Given the description of an element on the screen output the (x, y) to click on. 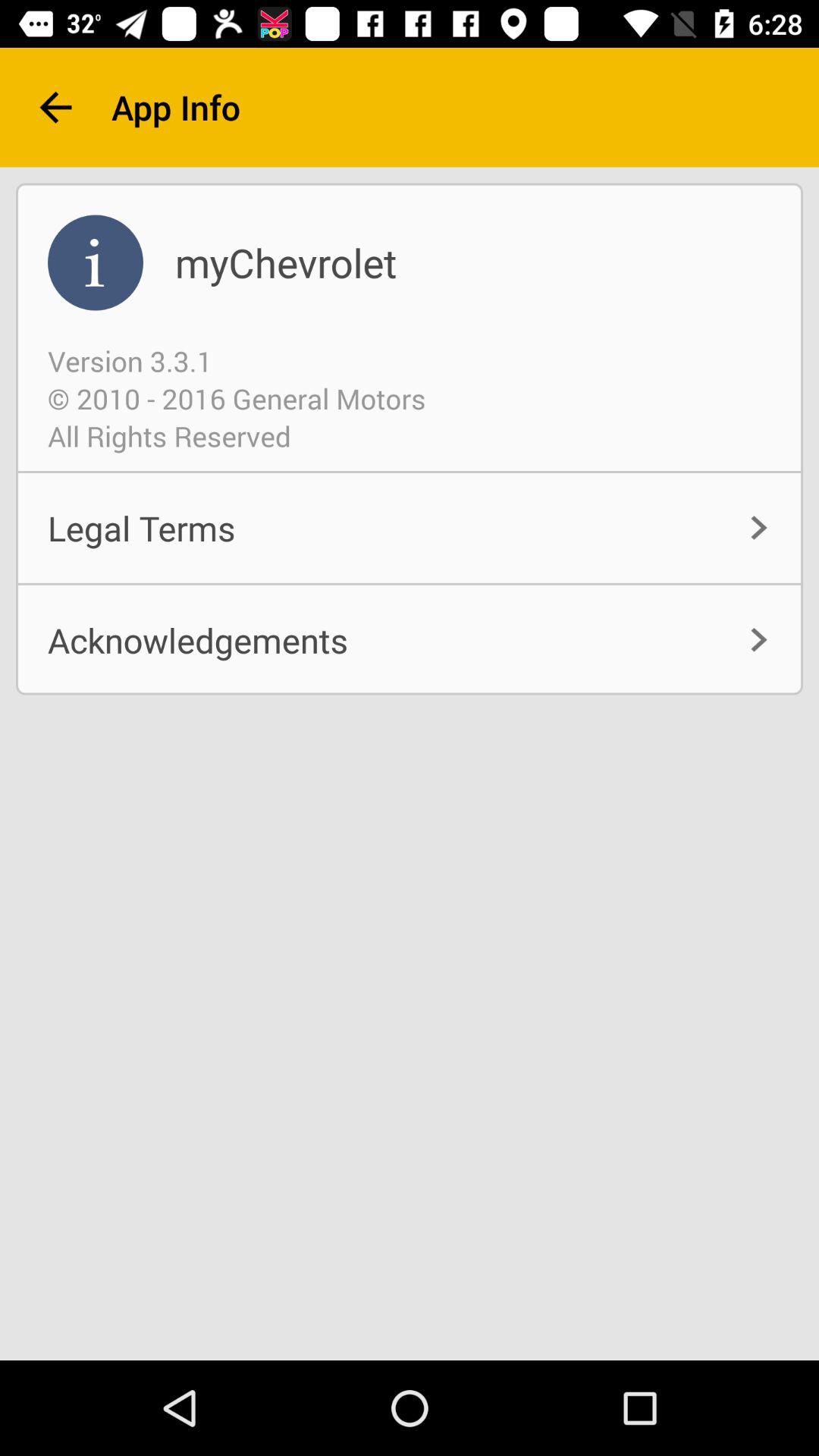
turn on the icon below legal terms icon (409, 640)
